Given the description of an element on the screen output the (x, y) to click on. 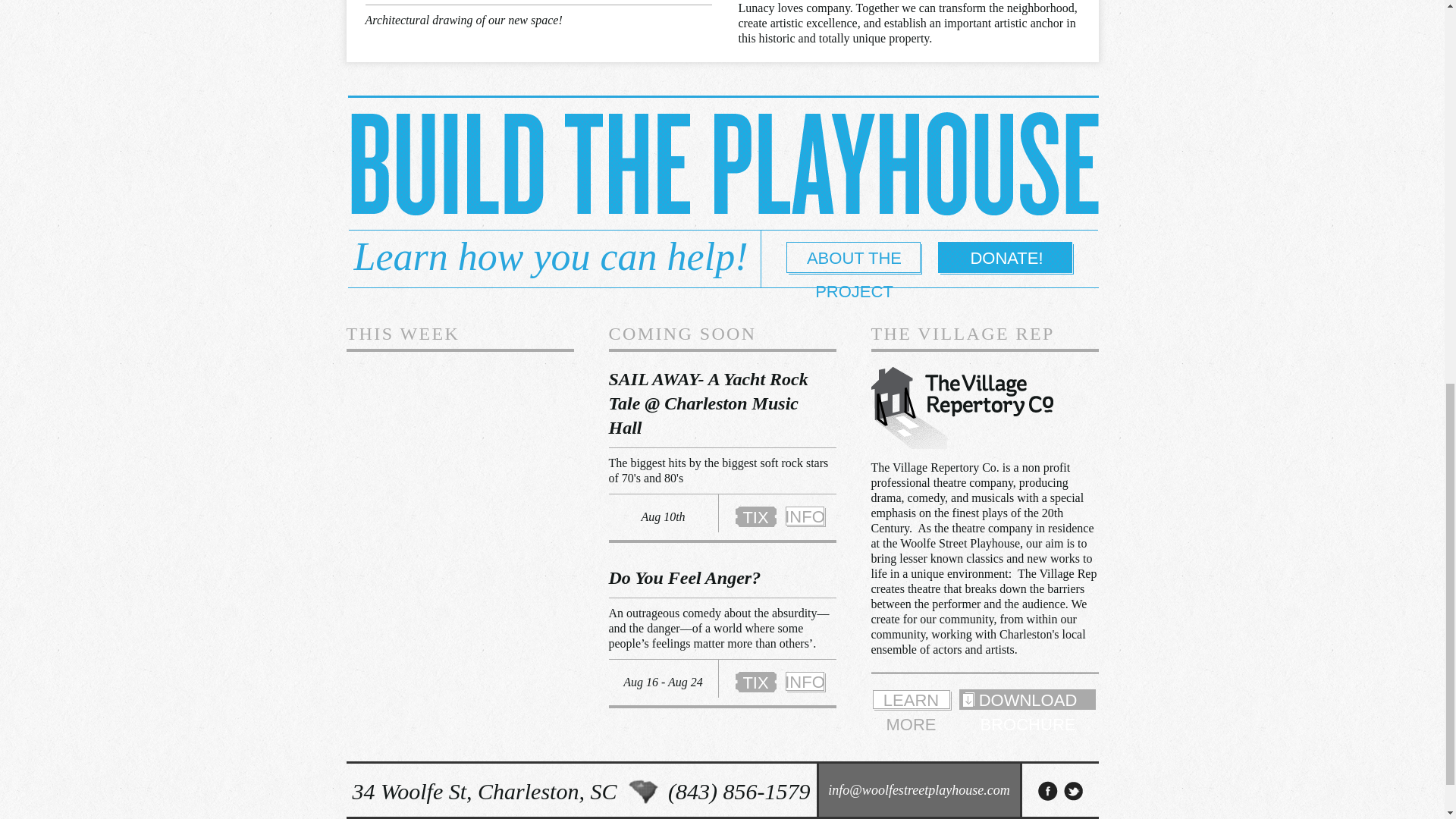
LEARN MORE (910, 699)
ABOUT THE PROJECT (853, 258)
Do You Feel Anger? (684, 578)
INFO (804, 516)
Twitter (1073, 790)
TIX (754, 681)
INFO (804, 681)
DOWNLOAD BROCHURE (1027, 699)
TIX (754, 516)
DONATE! (1006, 258)
Facebook (1047, 790)
